Given the description of an element on the screen output the (x, y) to click on. 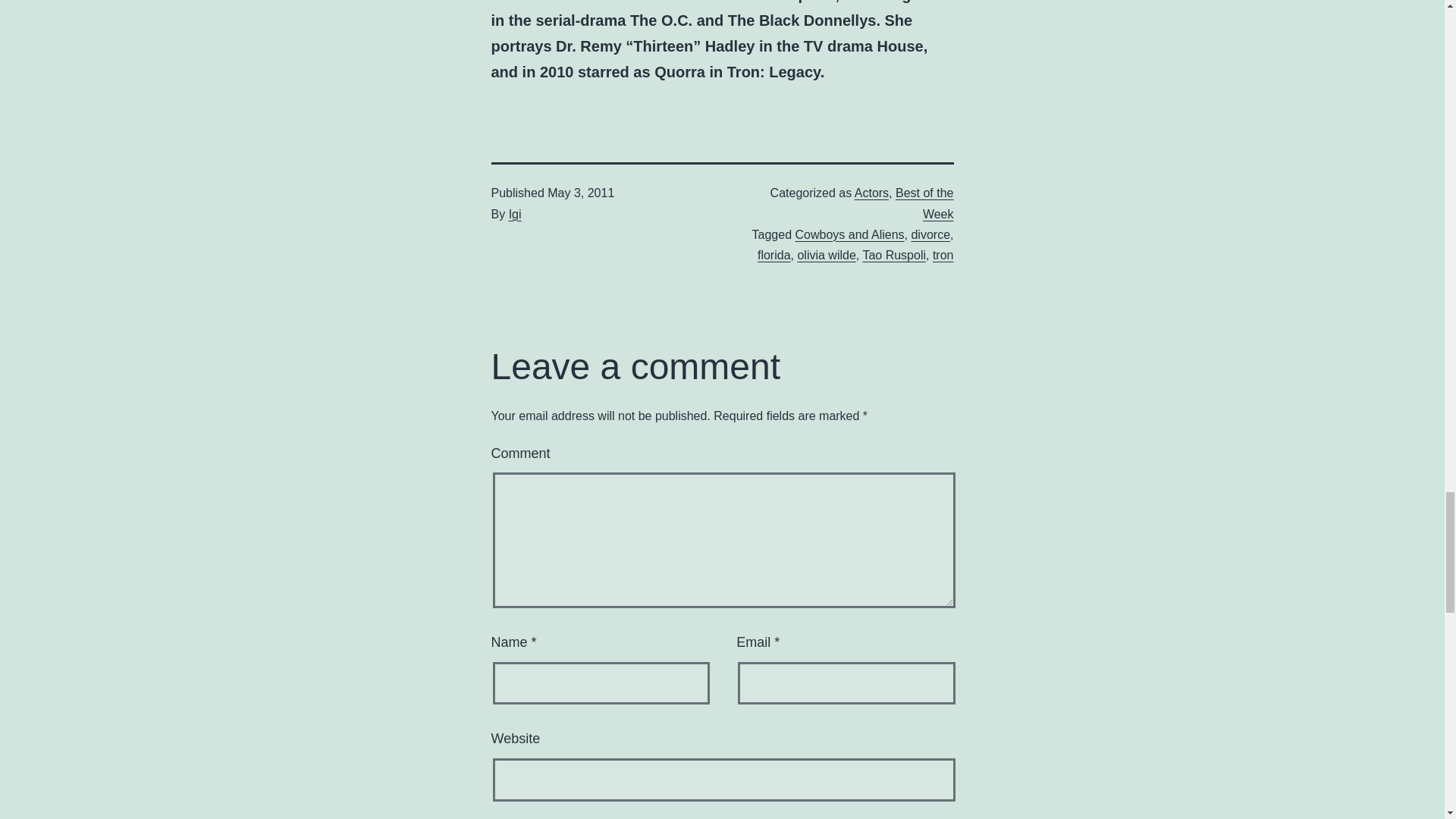
florida (773, 254)
olivia wilde (826, 254)
tron (943, 254)
Tao Ruspoli (893, 254)
Cowboys and Aliens (849, 234)
Actors (871, 192)
Igi (514, 214)
divorce (930, 234)
Best of the Week (924, 203)
